Given the description of an element on the screen output the (x, y) to click on. 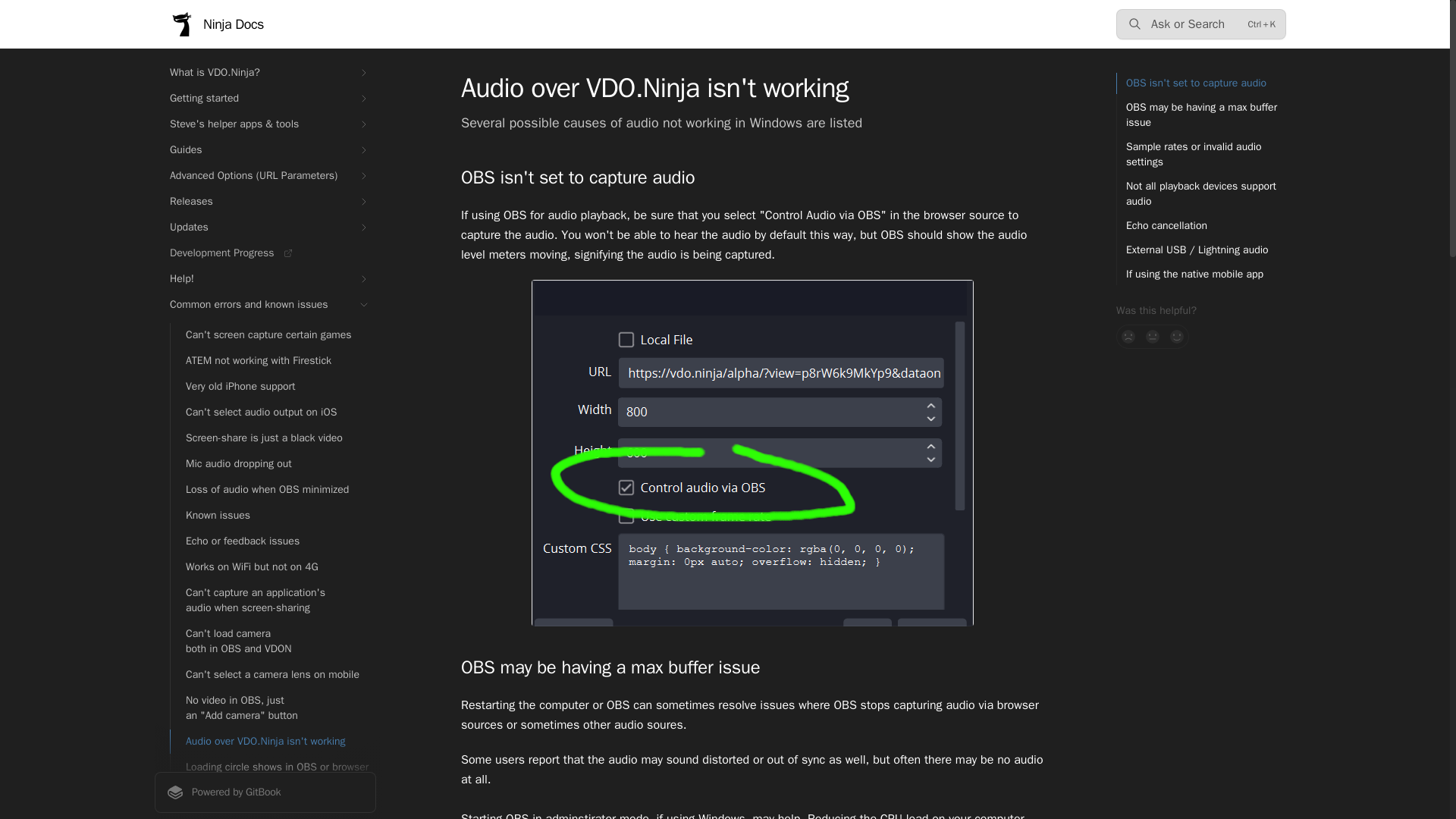
No (1128, 336)
Getting started (264, 98)
Guides (264, 150)
Not sure (1152, 336)
What is VDO.Ninja? (264, 72)
Yes, it was! (1176, 336)
Ninja Docs (216, 24)
